Given the description of an element on the screen output the (x, y) to click on. 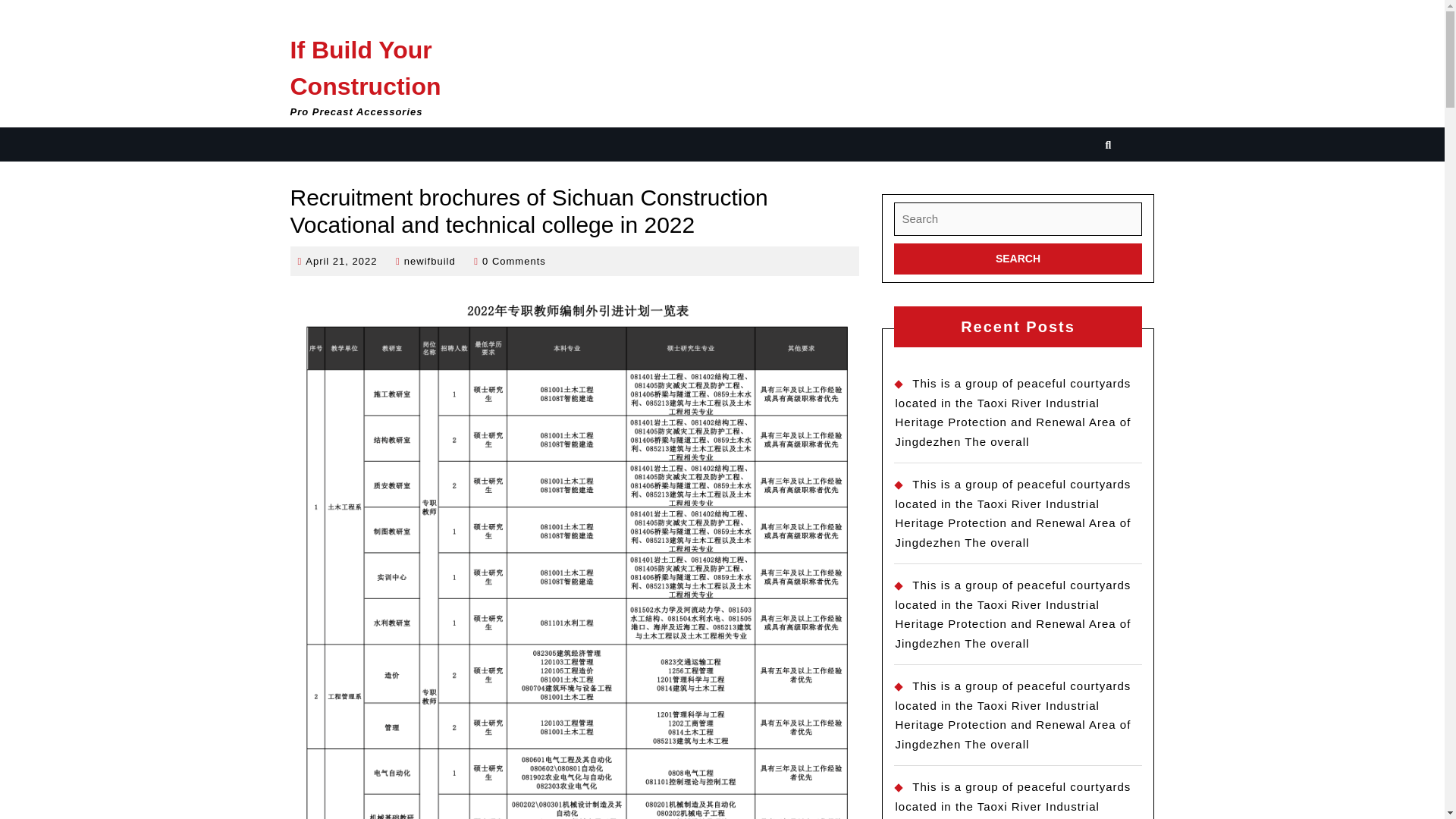
Search (429, 260)
Skip to content (1017, 258)
If Build Your Construction (1017, 258)
Search (341, 260)
